Given the description of an element on the screen output the (x, y) to click on. 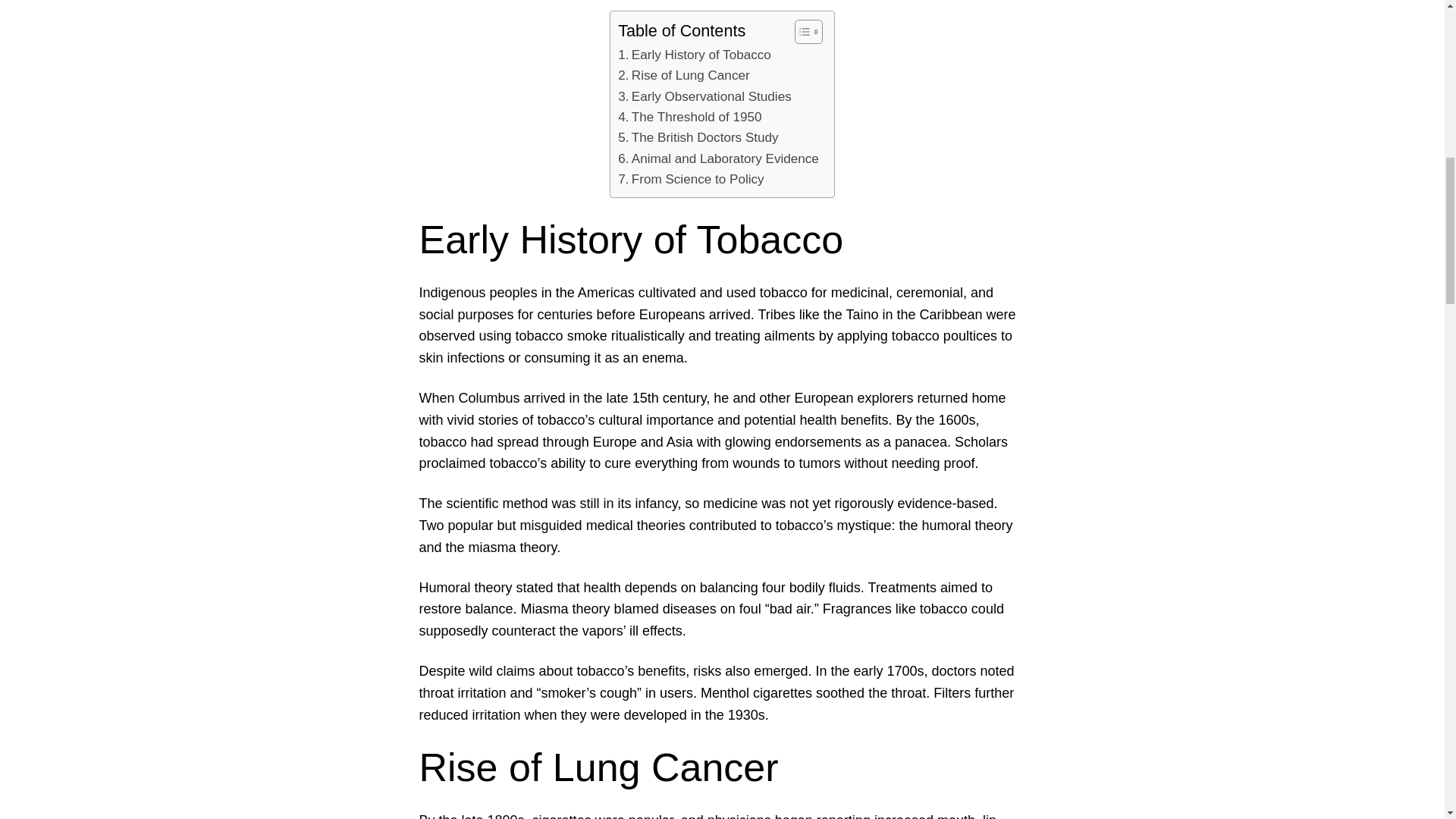
Animal and Laboratory Evidence (717, 158)
The British Doctors Study (697, 137)
The Threshold of 1950 (689, 117)
From Science to Policy (689, 178)
Early History of Tobacco (694, 55)
From Science to Policy (689, 178)
Animal and Laboratory Evidence (717, 158)
Early History of Tobacco (694, 55)
Rise of Lung Cancer (683, 75)
Early Observational Studies (704, 96)
Early Observational Studies (704, 96)
The Threshold of 1950 (689, 117)
Rise of Lung Cancer (683, 75)
The British Doctors Study (697, 137)
